Given the description of an element on the screen output the (x, y) to click on. 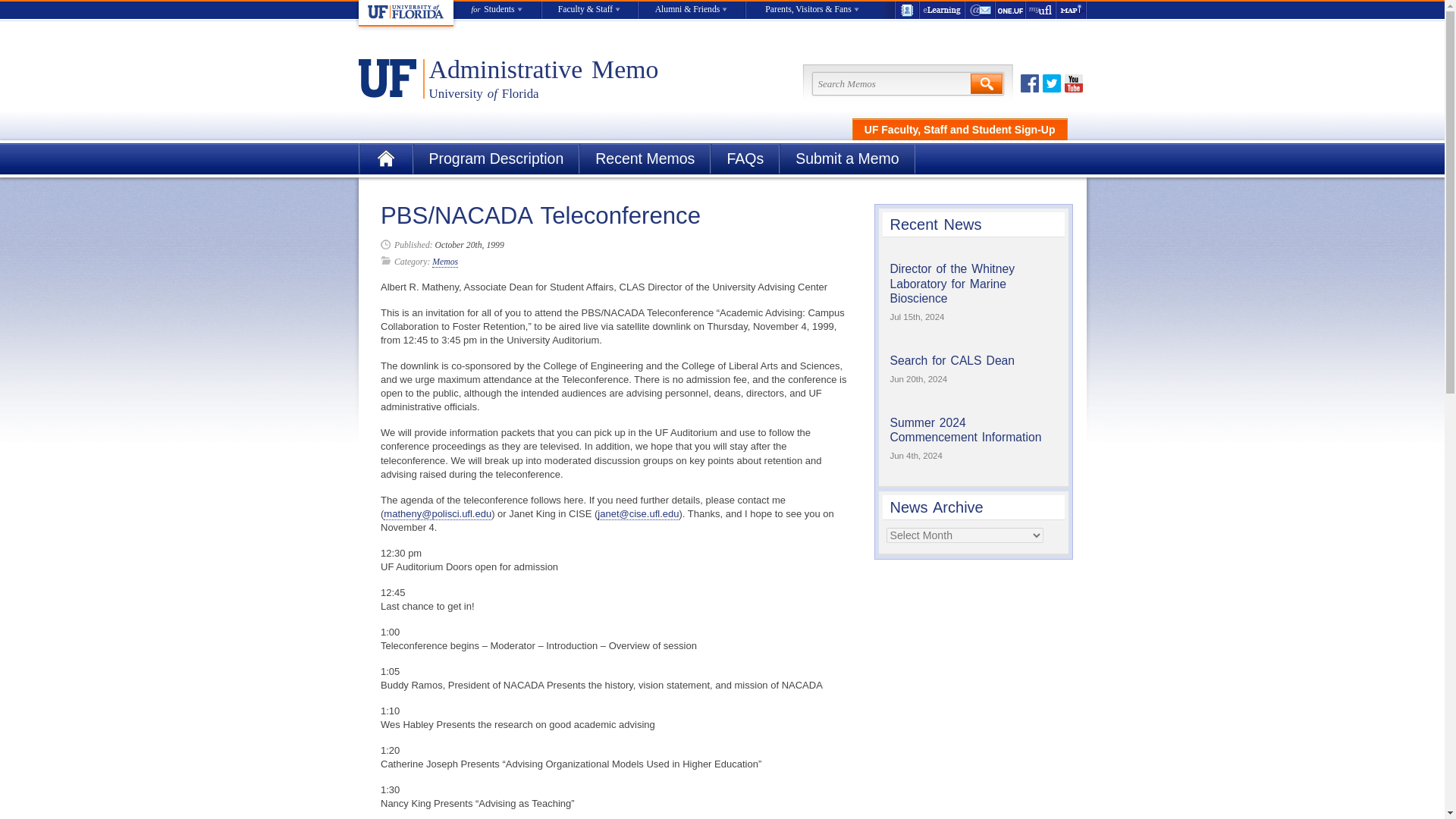
Type search term here (906, 83)
for Students (496, 9)
ONE.UF (1009, 9)
Webmail Access (978, 9)
Search Memos (906, 83)
e-Learning (940, 9)
UF Directory (905, 9)
myUFL (1040, 9)
Campus Map (1070, 9)
